Given the description of an element on the screen output the (x, y) to click on. 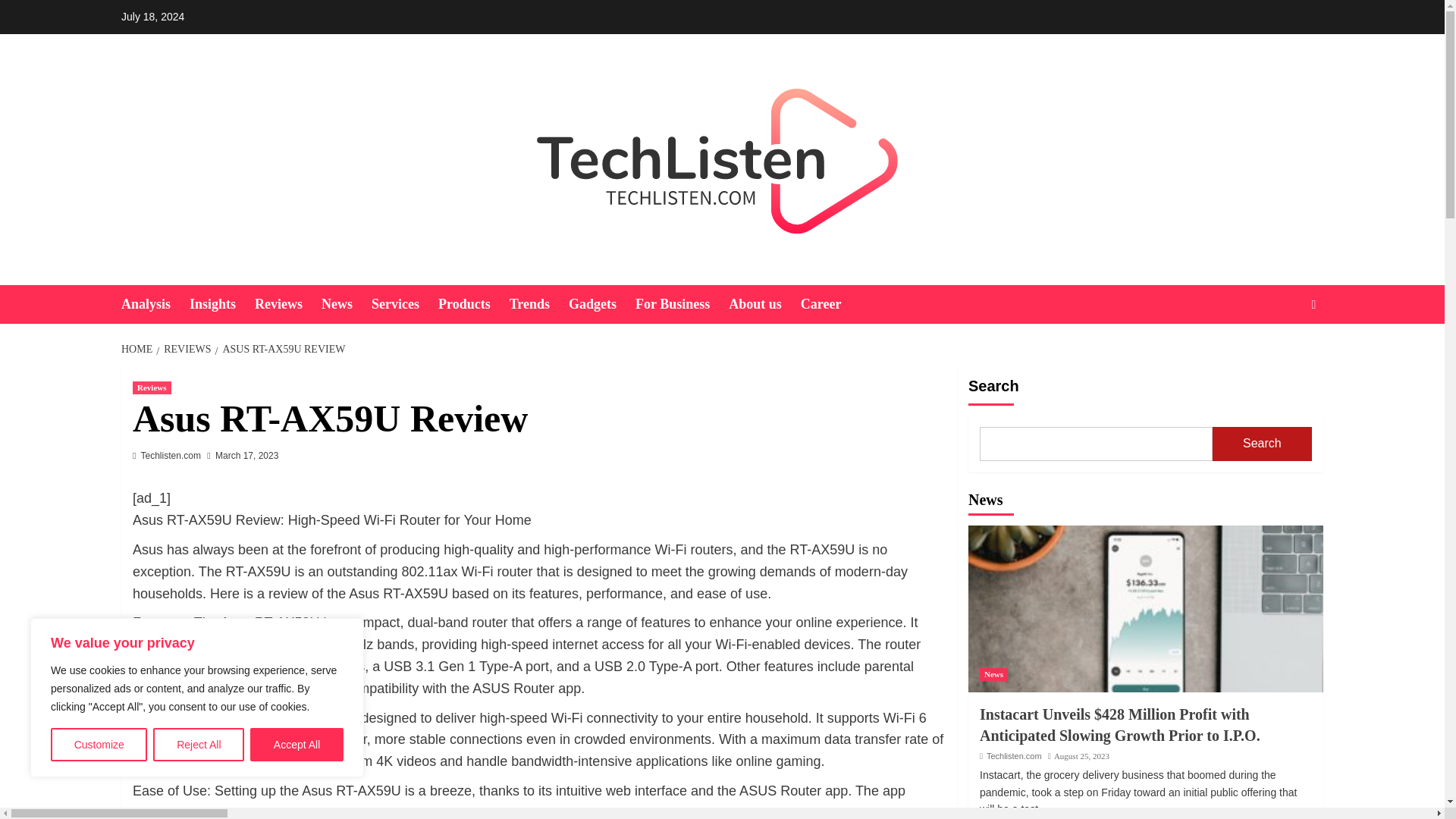
HOME (137, 348)
Gadgets (601, 304)
Techlisten.com (170, 455)
Reviews (287, 304)
Insights (221, 304)
Reject All (198, 744)
Career (830, 304)
About us (764, 304)
Accept All (296, 744)
March 17, 2023 (246, 455)
REVIEWS (184, 348)
Search (1278, 350)
Services (404, 304)
Analysis (154, 304)
Reviews (151, 387)
